Given the description of an element on the screen output the (x, y) to click on. 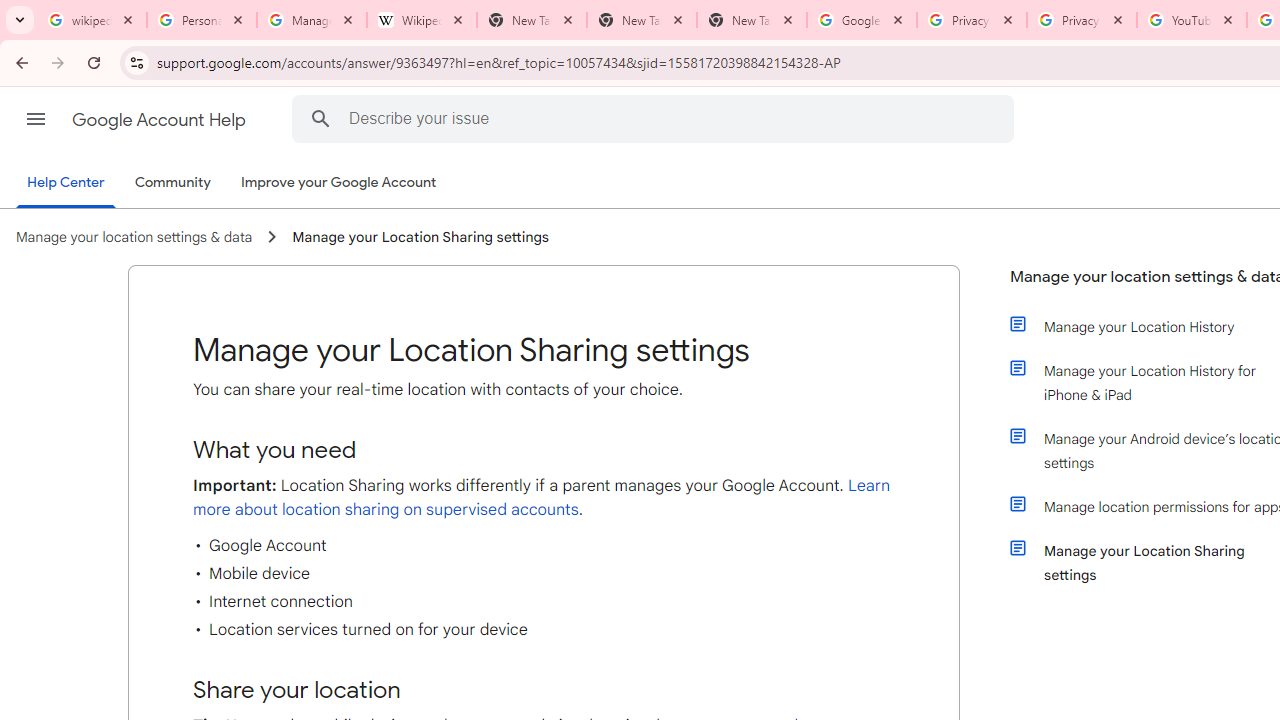
New Tab (752, 20)
Manage your Location History - Google Search Help (312, 20)
Search Help Center (320, 118)
Manage your location settings & data (134, 237)
YouTube (1191, 20)
